Given the description of an element on the screen output the (x, y) to click on. 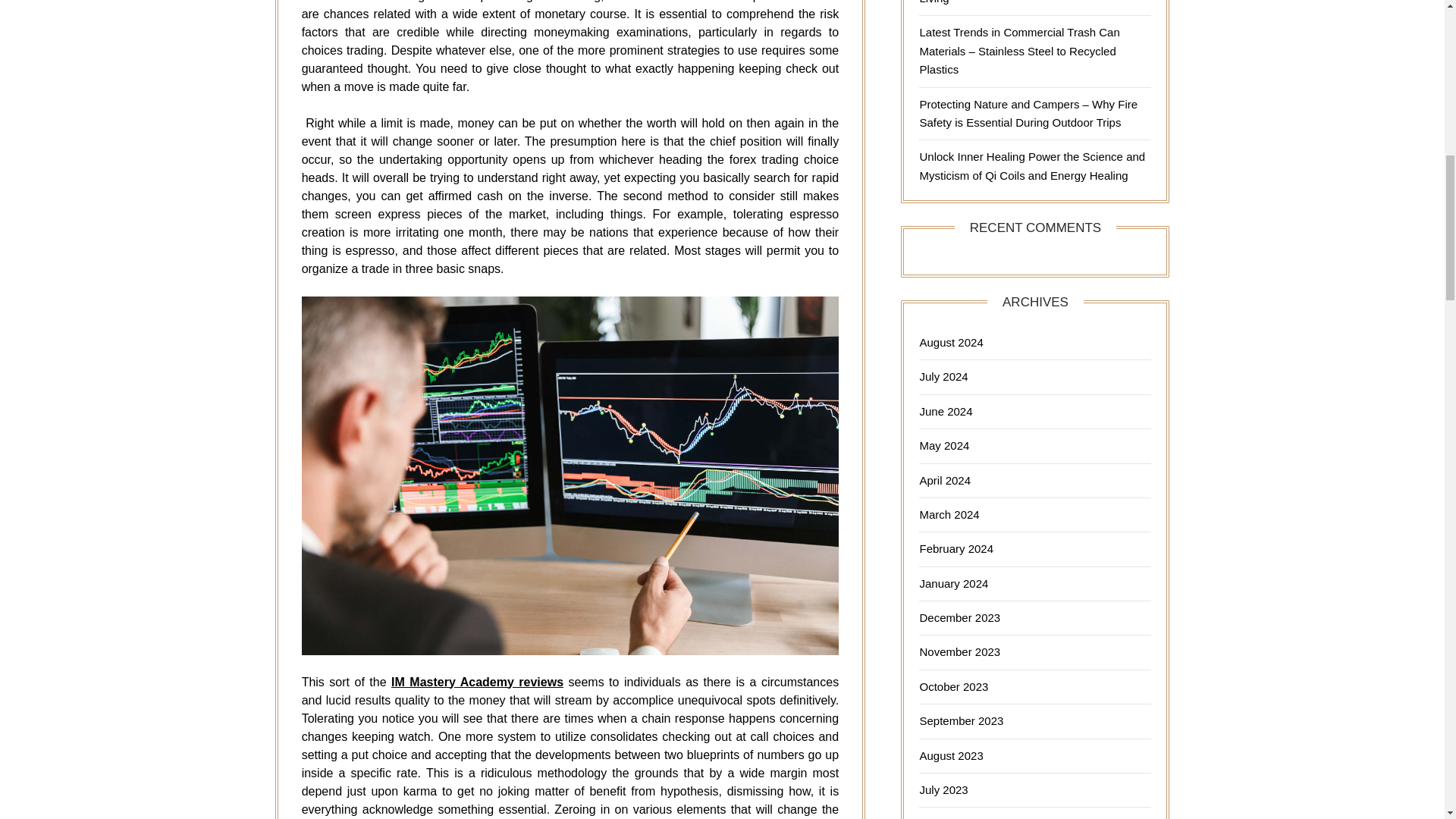
July 2023 (943, 789)
August 2023 (950, 755)
Innovative Home Interior Design for Modern Living (1029, 2)
November 2023 (959, 651)
October 2023 (953, 686)
April 2024 (944, 480)
February 2024 (955, 548)
July 2024 (943, 376)
August 2024 (950, 341)
June 2023 (945, 818)
